Given the description of an element on the screen output the (x, y) to click on. 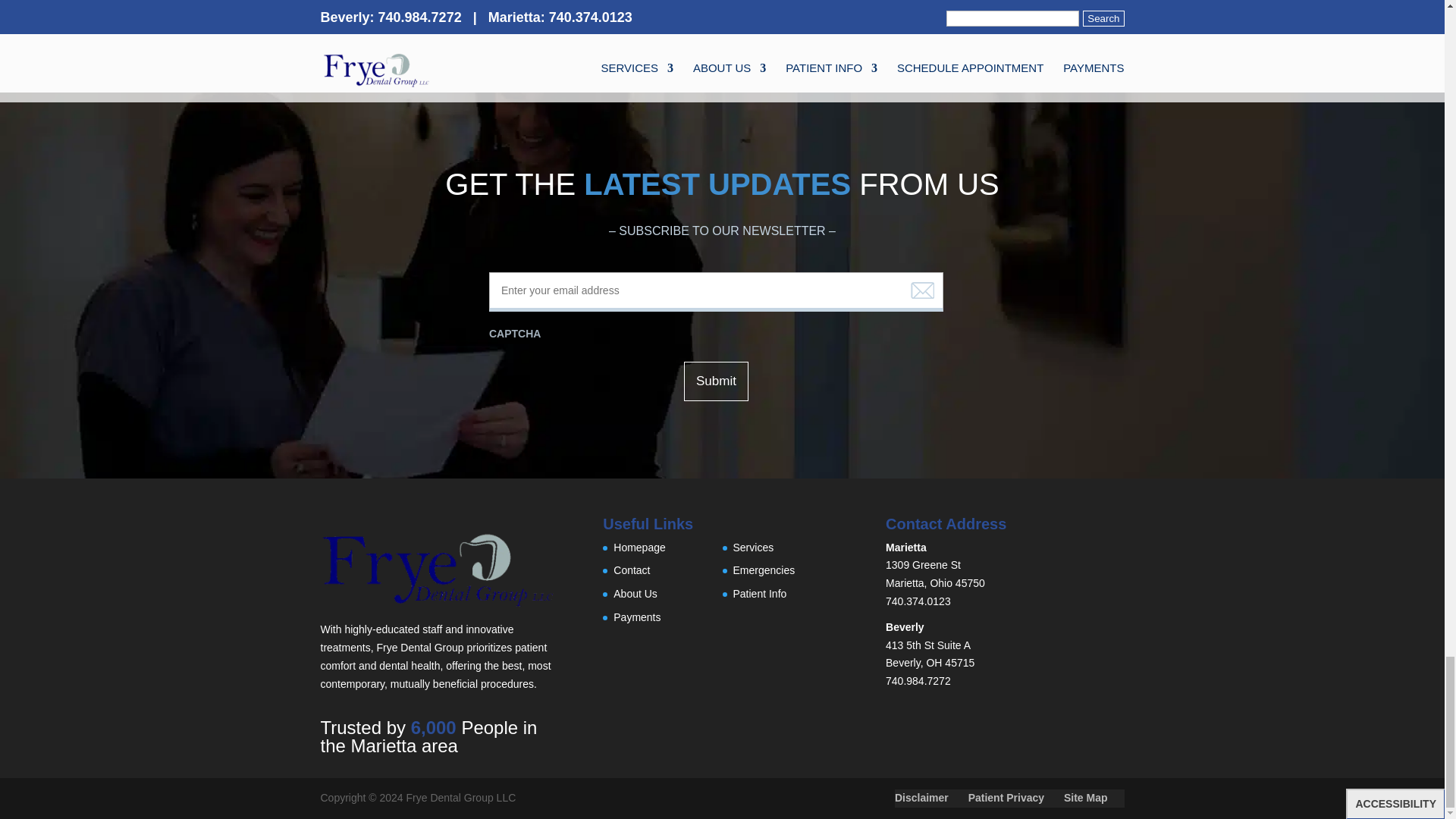
Submit (716, 381)
